Given the description of an element on the screen output the (x, y) to click on. 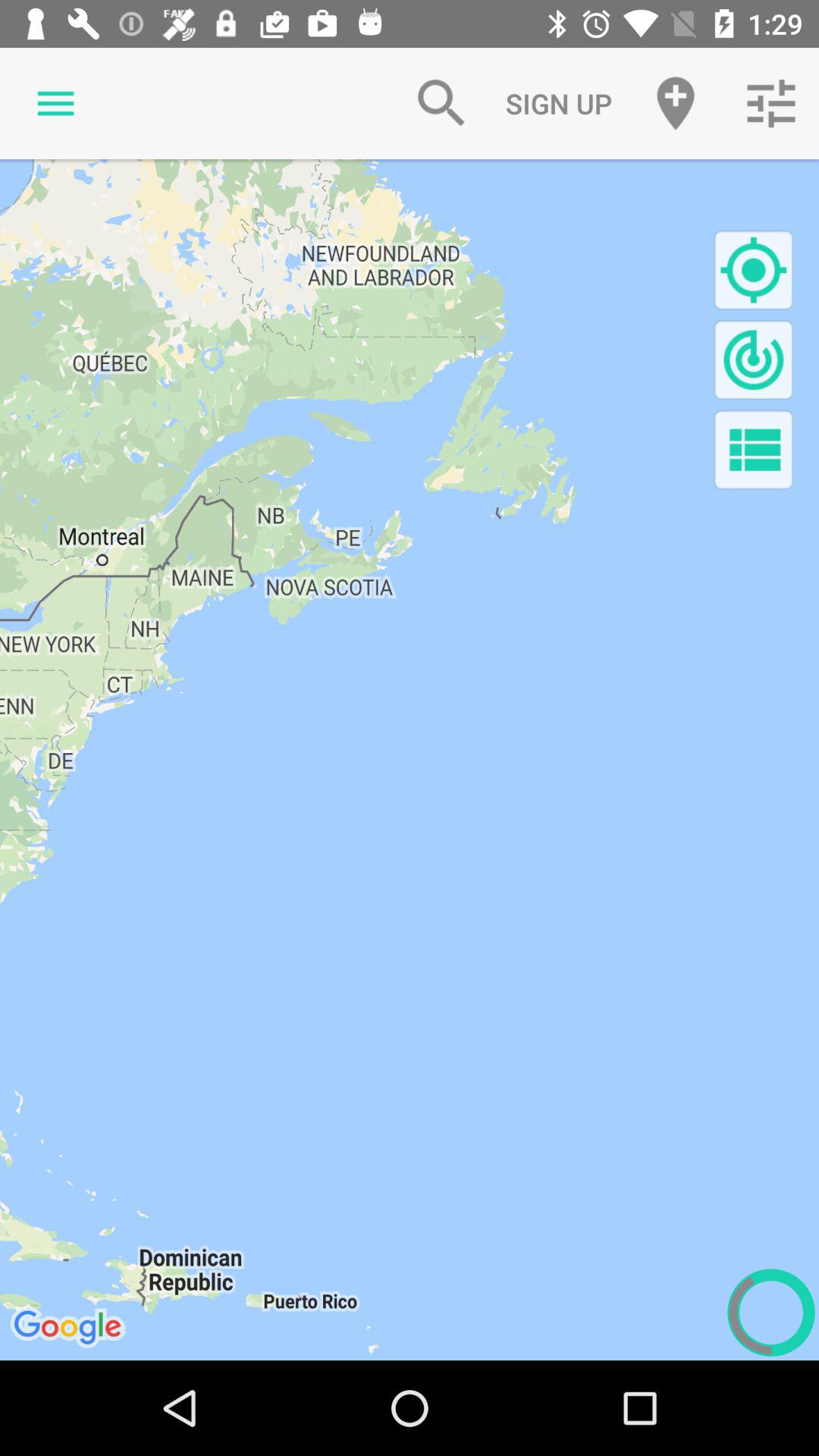
menu (753, 449)
